Given the description of an element on the screen output the (x, y) to click on. 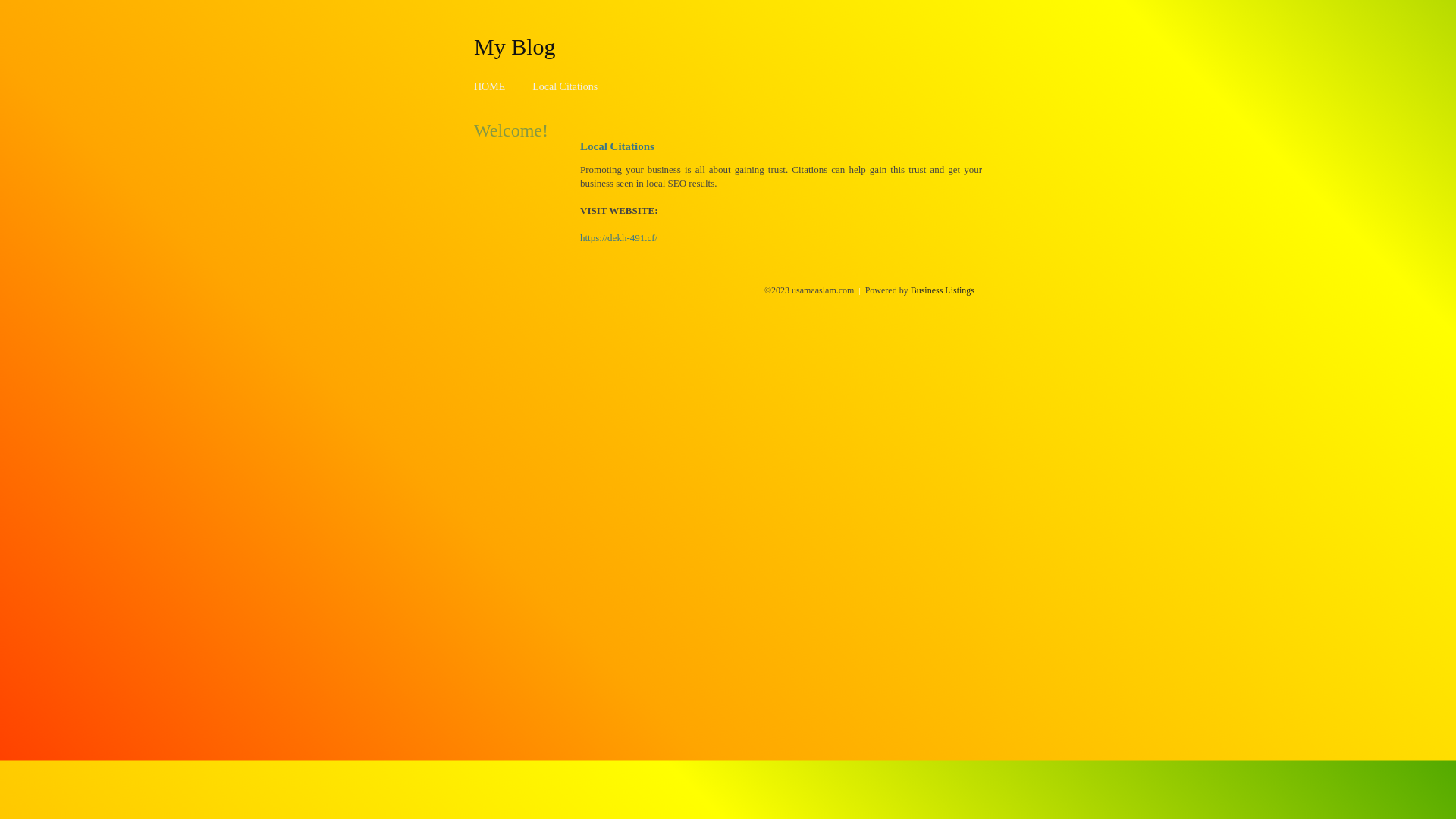
HOME Element type: text (489, 86)
Business Listings Element type: text (942, 290)
https://dekh-491.cf/ Element type: text (618, 237)
My Blog Element type: text (514, 46)
Local Citations Element type: text (564, 86)
